Given the description of an element on the screen output the (x, y) to click on. 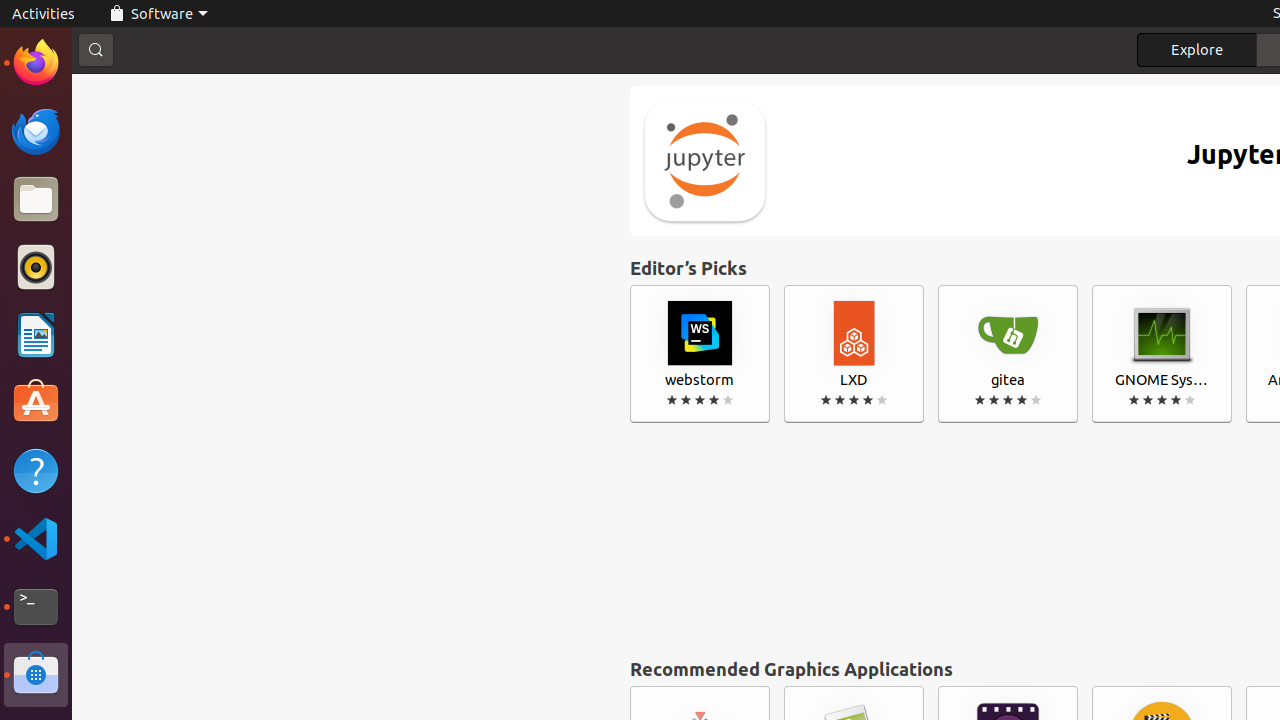
Firefox Web Browser Element type: push-button (36, 63)
luyi1 Element type: label (133, 89)
IsaHelpMain.desktop Element type: label (133, 300)
